Given the description of an element on the screen output the (x, y) to click on. 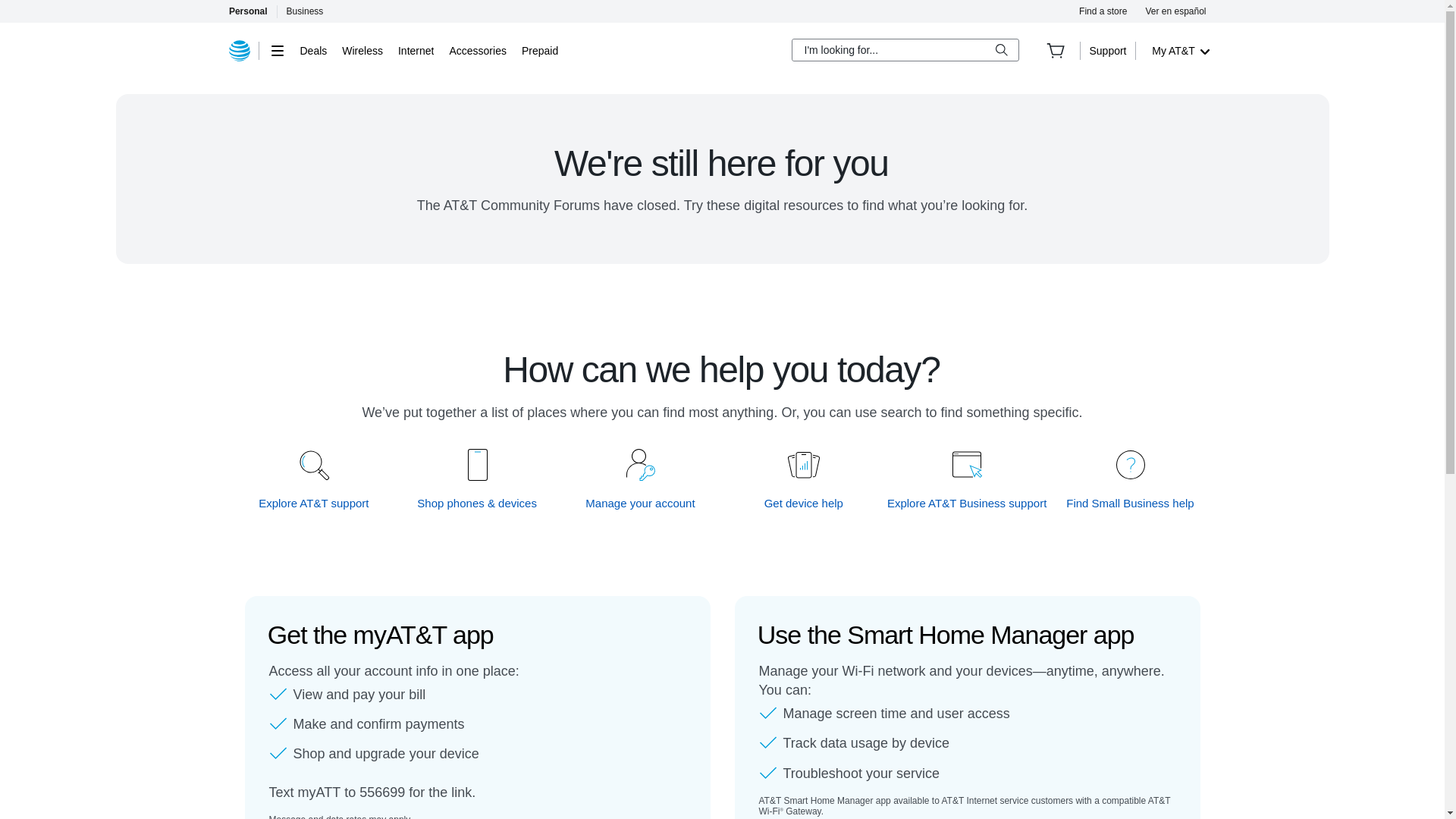
Find a store (1102, 10)
Internet (415, 50)
Get device help (803, 503)
Manage your account (640, 503)
Support (1107, 50)
Personal (247, 10)
Search (1000, 50)
Prepaid (539, 50)
Find Small Business help (1130, 503)
Cart (1055, 50)
Business (305, 10)
Deals (313, 50)
Accessories (476, 50)
Wireless (362, 50)
Support (1107, 50)
